Given the description of an element on the screen output the (x, y) to click on. 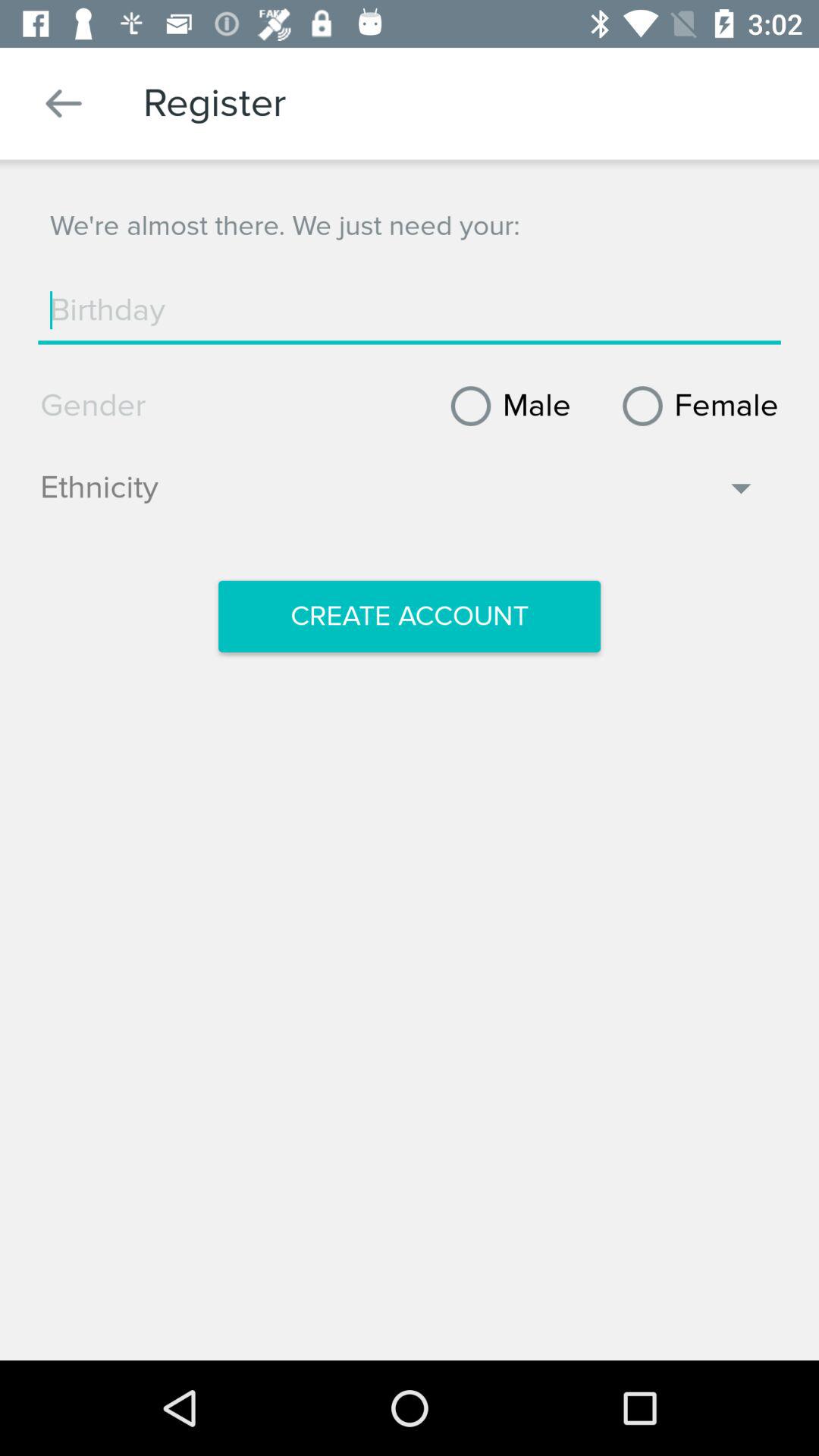
jump until female (694, 405)
